Given the description of an element on the screen output the (x, y) to click on. 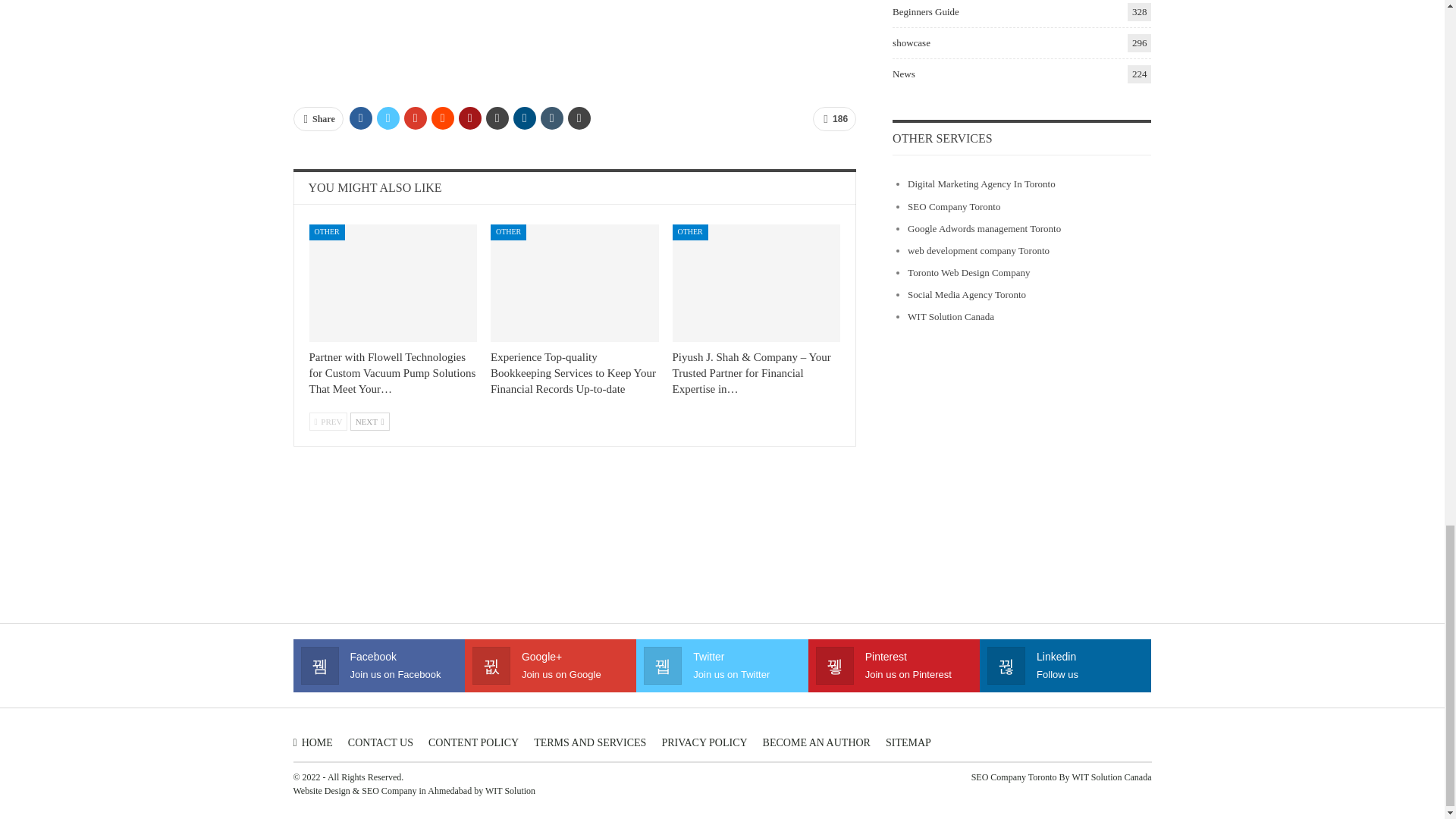
Previous (327, 421)
SEO Company Toronto (953, 206)
Google Adwords management Toronto (984, 228)
web development company Toronto (978, 250)
Digital Marketing Agency In Toronto (981, 183)
Next (370, 421)
